Given the description of an element on the screen output the (x, y) to click on. 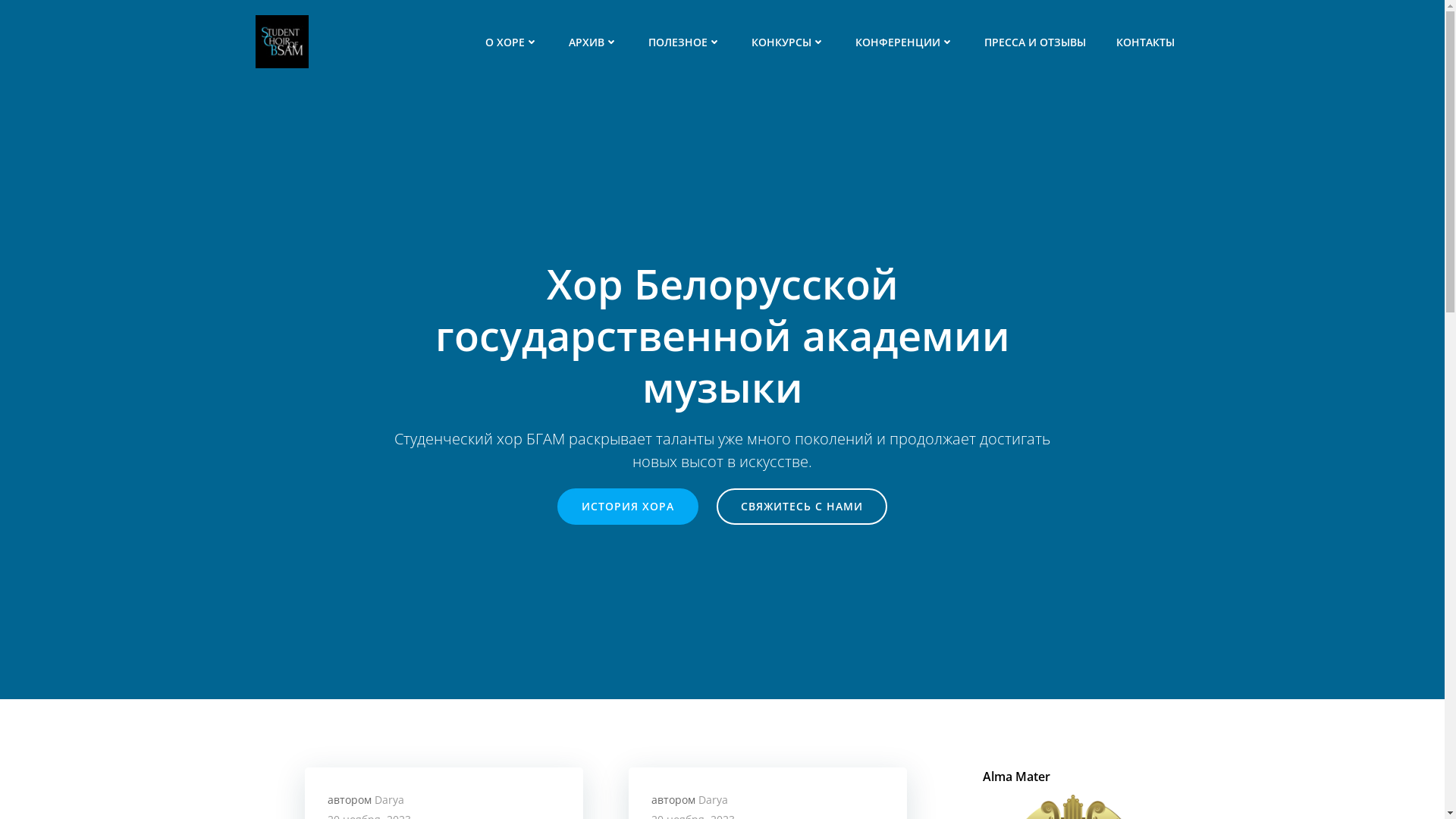
Darya Element type: text (389, 799)
ColibriWP Theme Element type: text (1001, 773)
Darya Element type: text (712, 799)
